Given the description of an element on the screen output the (x, y) to click on. 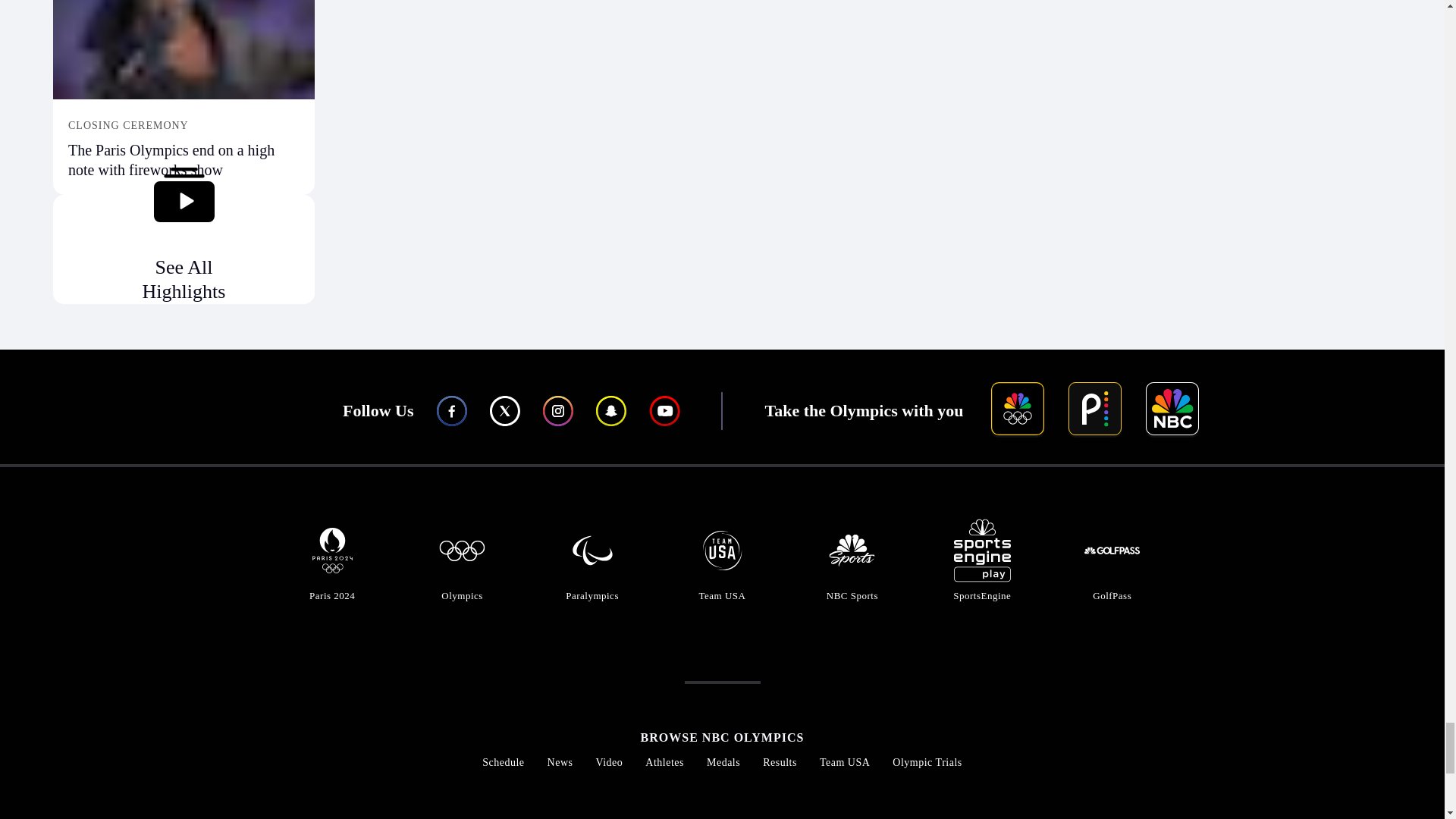
Medals (722, 762)
Athletes (664, 762)
News (560, 762)
Video (609, 762)
Schedule (502, 762)
